Given the description of an element on the screen output the (x, y) to click on. 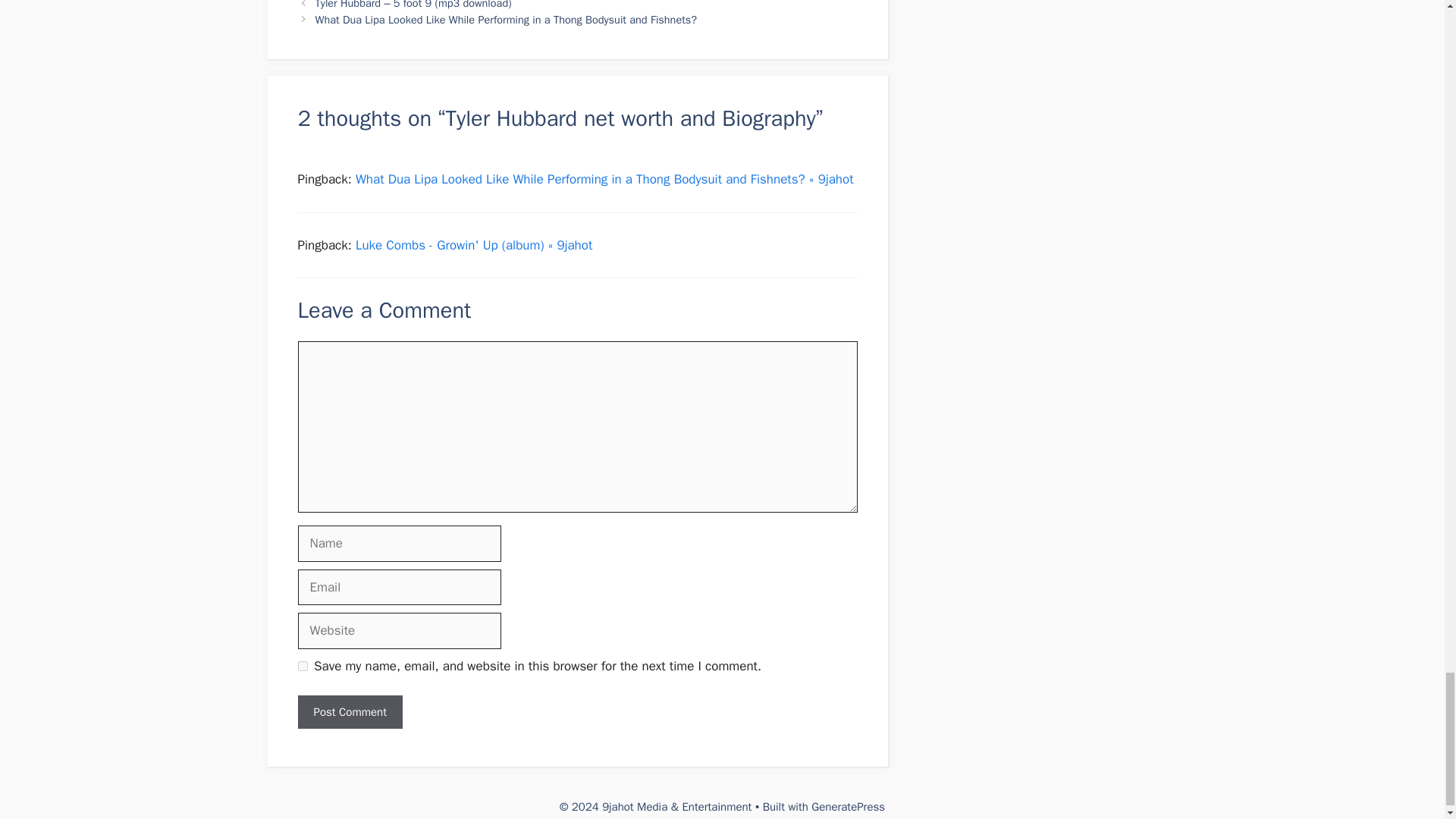
yes (302, 665)
Post Comment (349, 712)
Post Comment (349, 712)
